Given the description of an element on the screen output the (x, y) to click on. 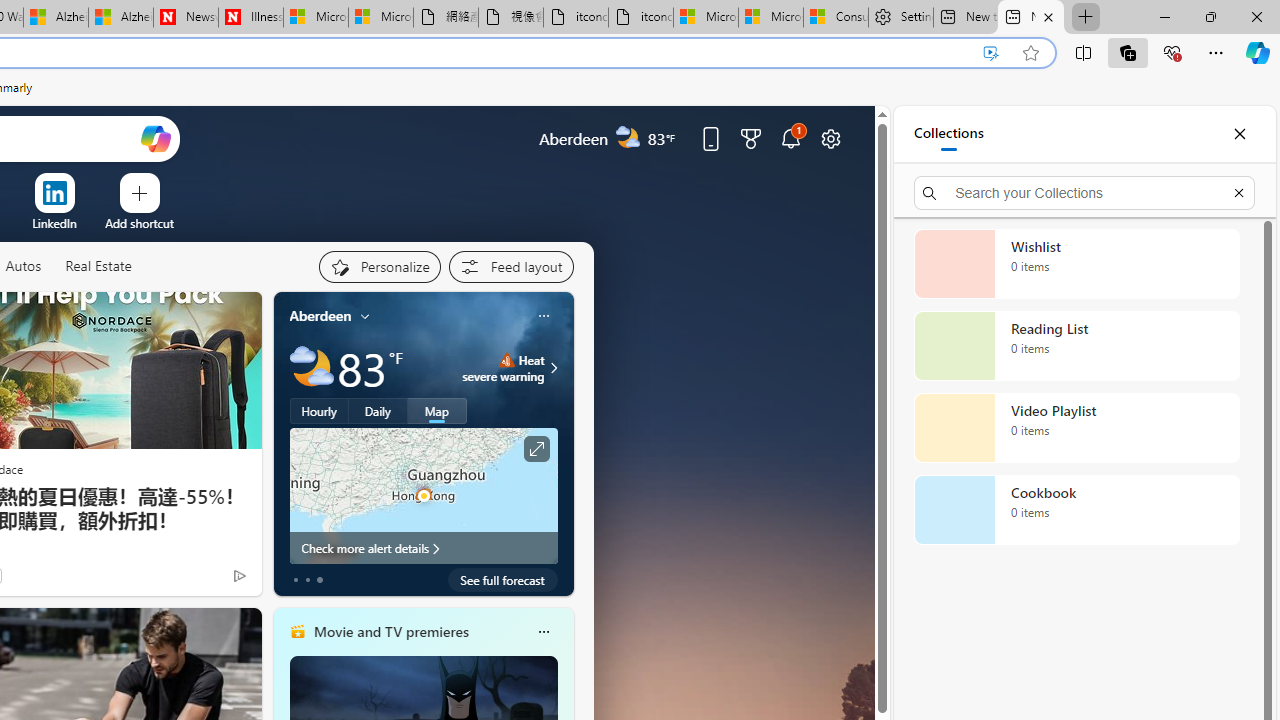
tab-1 (306, 579)
Class: weather-arrow-glyph (554, 367)
Partly cloudy (311, 368)
Daily (378, 411)
Page settings (831, 138)
Click to see more information (536, 449)
